Given the description of an element on the screen output the (x, y) to click on. 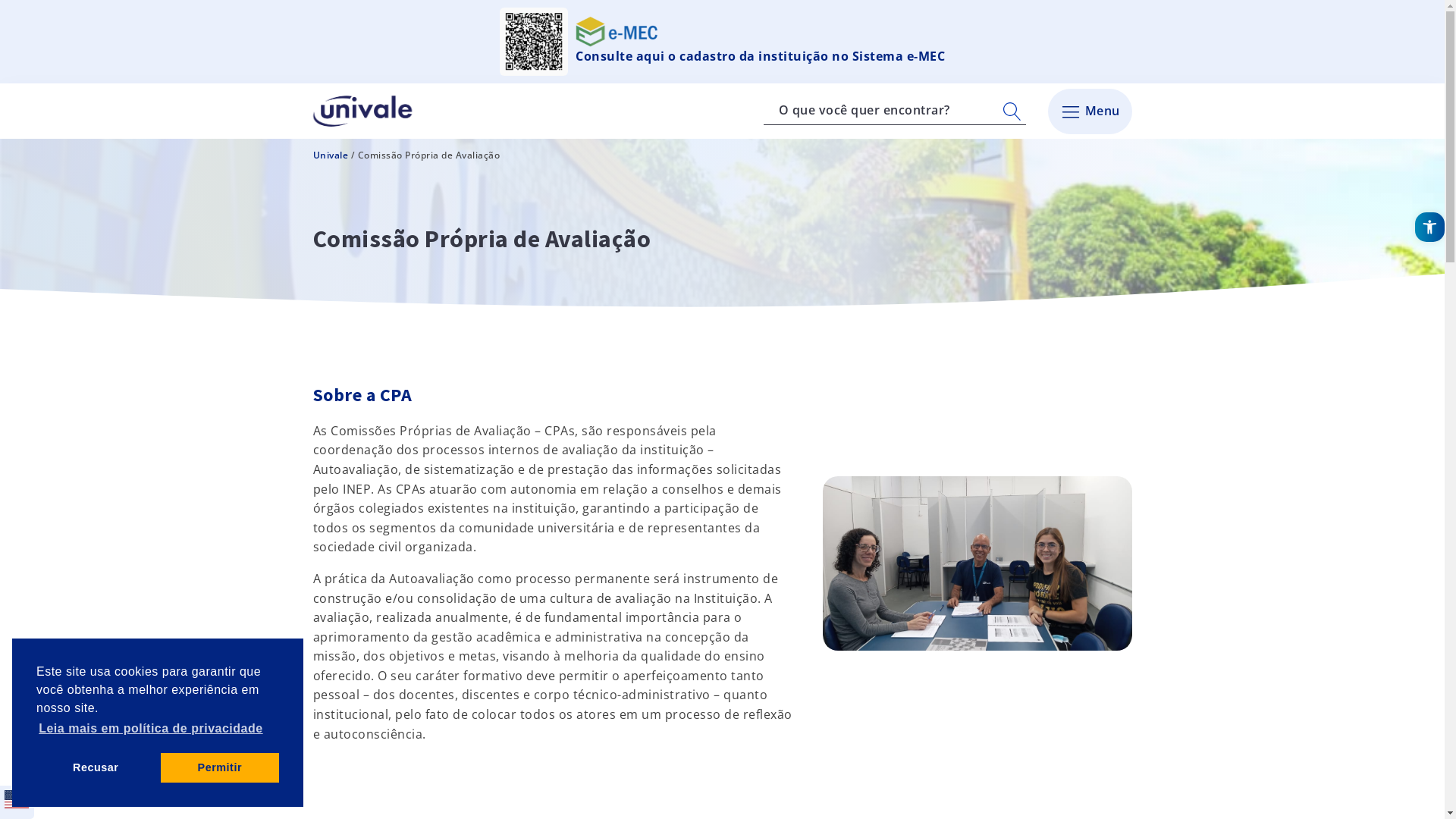
Recusar Element type: text (95, 767)
Univale Element type: text (330, 154)
Permitir Element type: text (219, 767)
Barra de Ferramentas Aberta
Acessibilidade Element type: text (1429, 226)
English Element type: hover (17, 806)
Volte para a p'agina principal Element type: hover (365, 110)
